Given the description of an element on the screen output the (x, y) to click on. 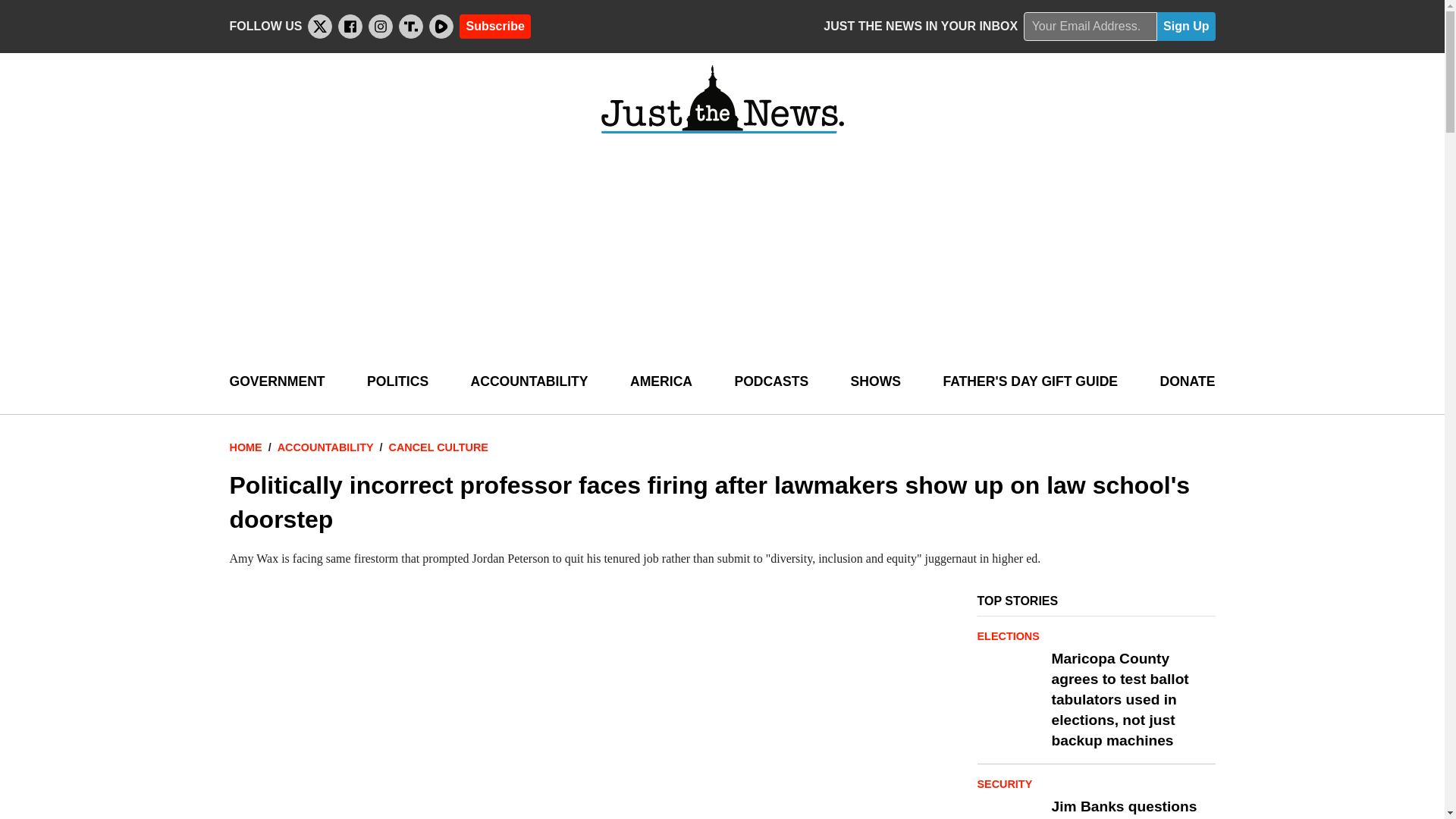
PODCASTS (770, 381)
DONATE (1186, 381)
Subscribe (494, 26)
AMERICA (661, 381)
SHOWS (875, 381)
ACCOUNTABILITY (529, 381)
FATHER'S DAY GIFT GUIDE (1030, 381)
GOVERNMENT (276, 381)
POLITICS (397, 381)
Sign Up (1185, 26)
